Given the description of an element on the screen output the (x, y) to click on. 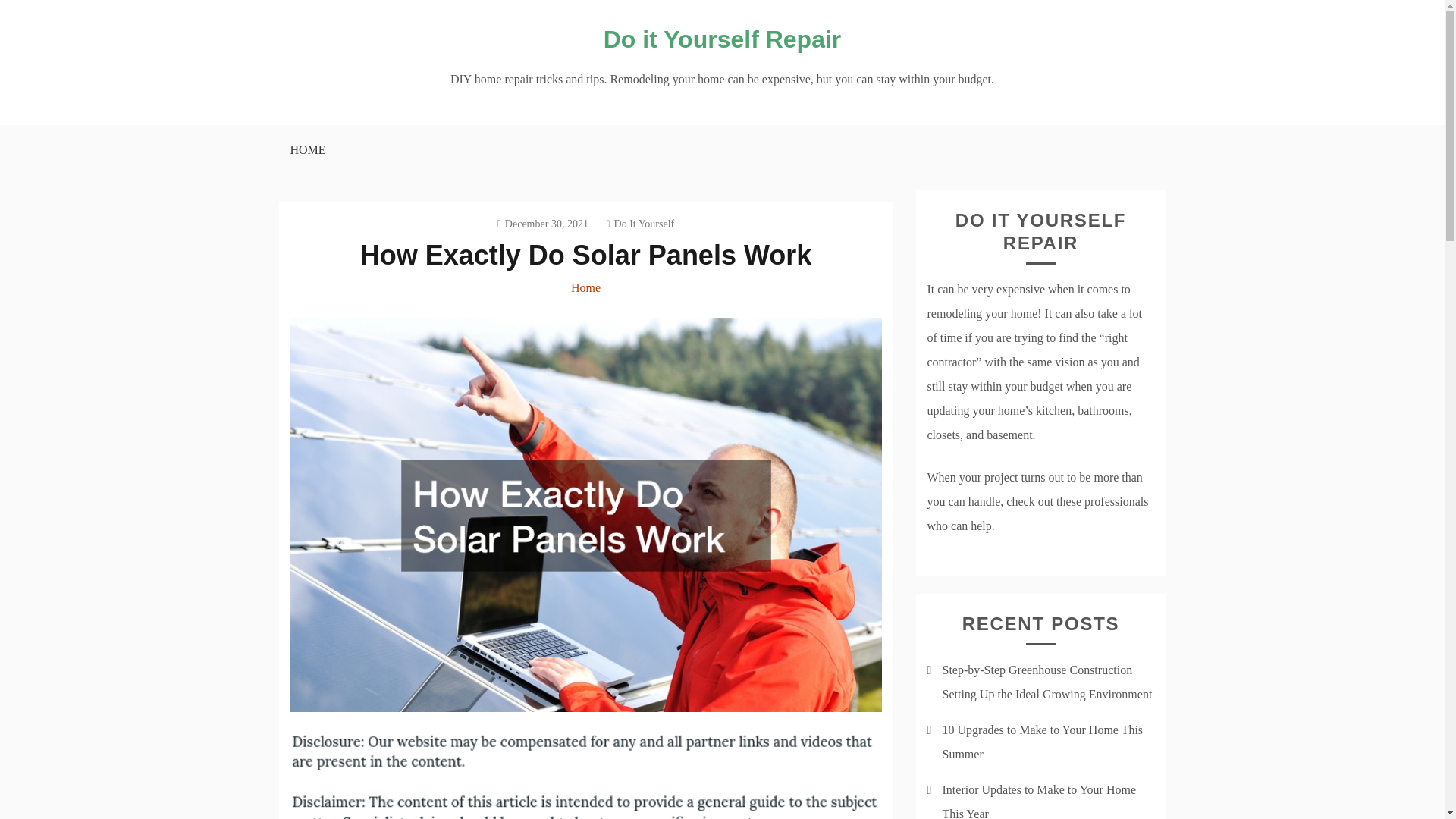
Do It Yourself (639, 224)
Home (584, 287)
HOME (306, 150)
Do it Yourself Repair (722, 39)
December 30, 2021 (542, 224)
Interior Updates to Make to Your Home This Year (1038, 800)
10 Upgrades to Make to Your Home This Summer (1042, 741)
